Given the description of an element on the screen output the (x, y) to click on. 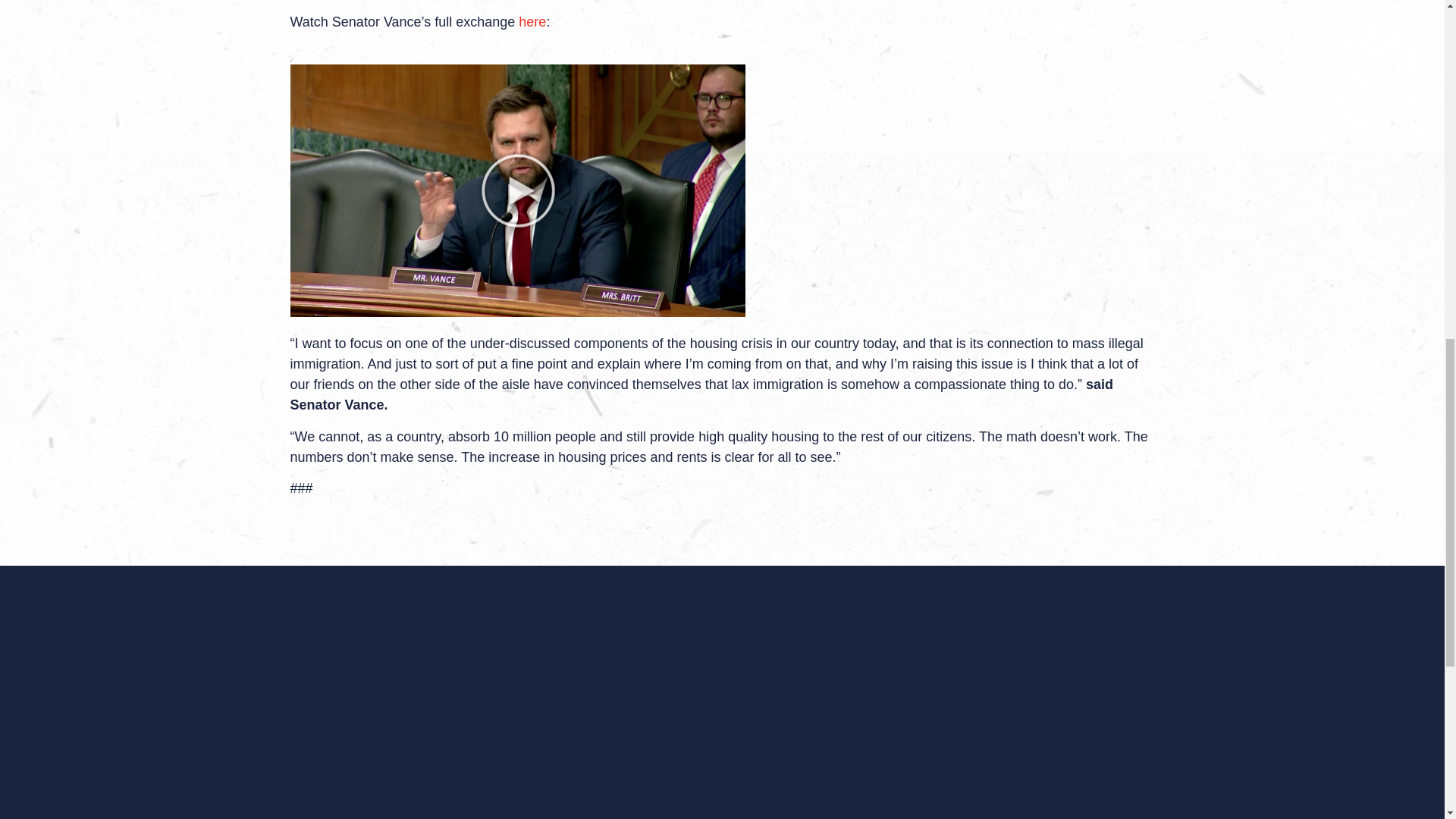
here (532, 21)
